Given the description of an element on the screen output the (x, y) to click on. 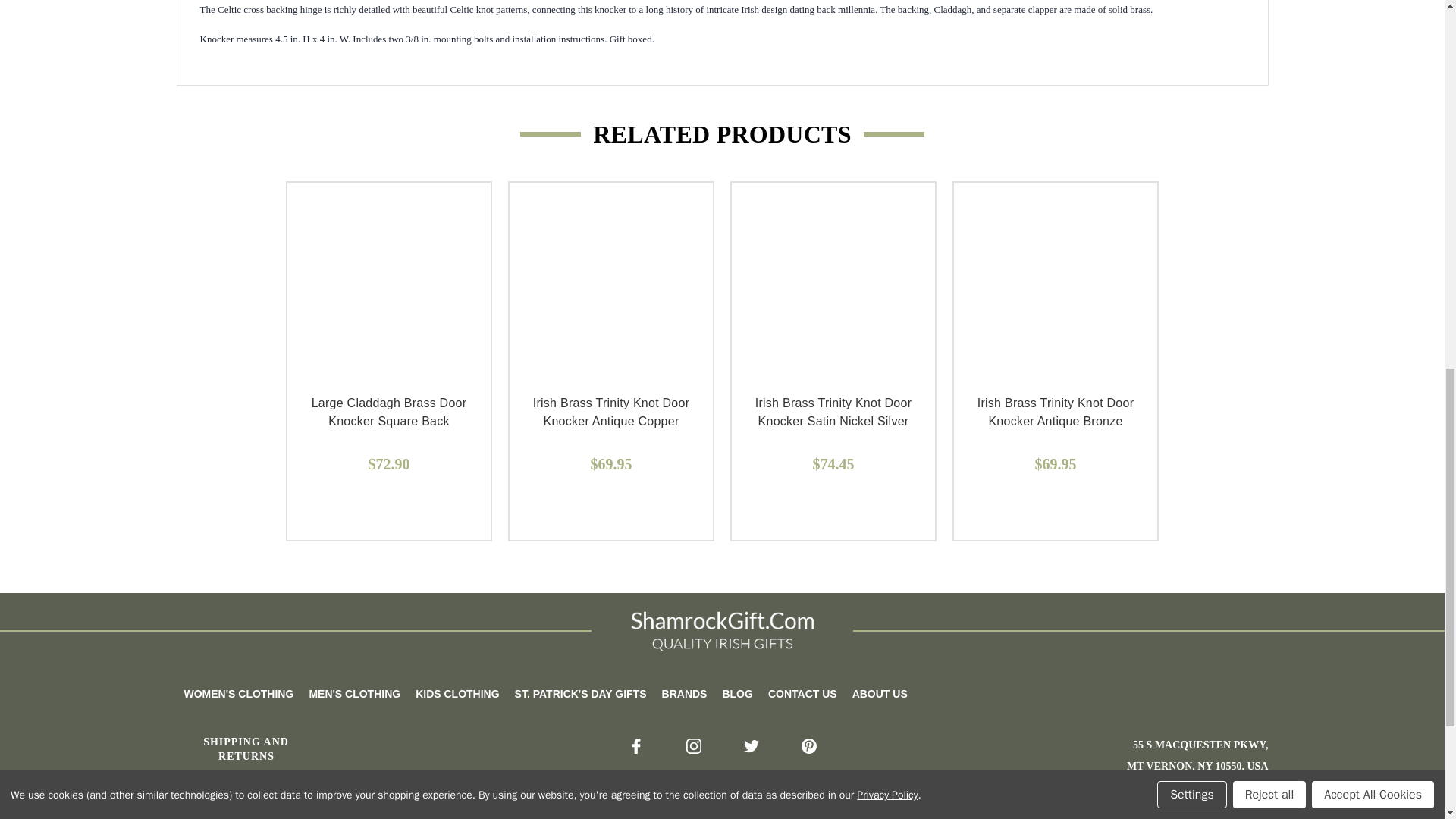
Shamrock Gift (722, 630)
